Given the description of an element on the screen output the (x, y) to click on. 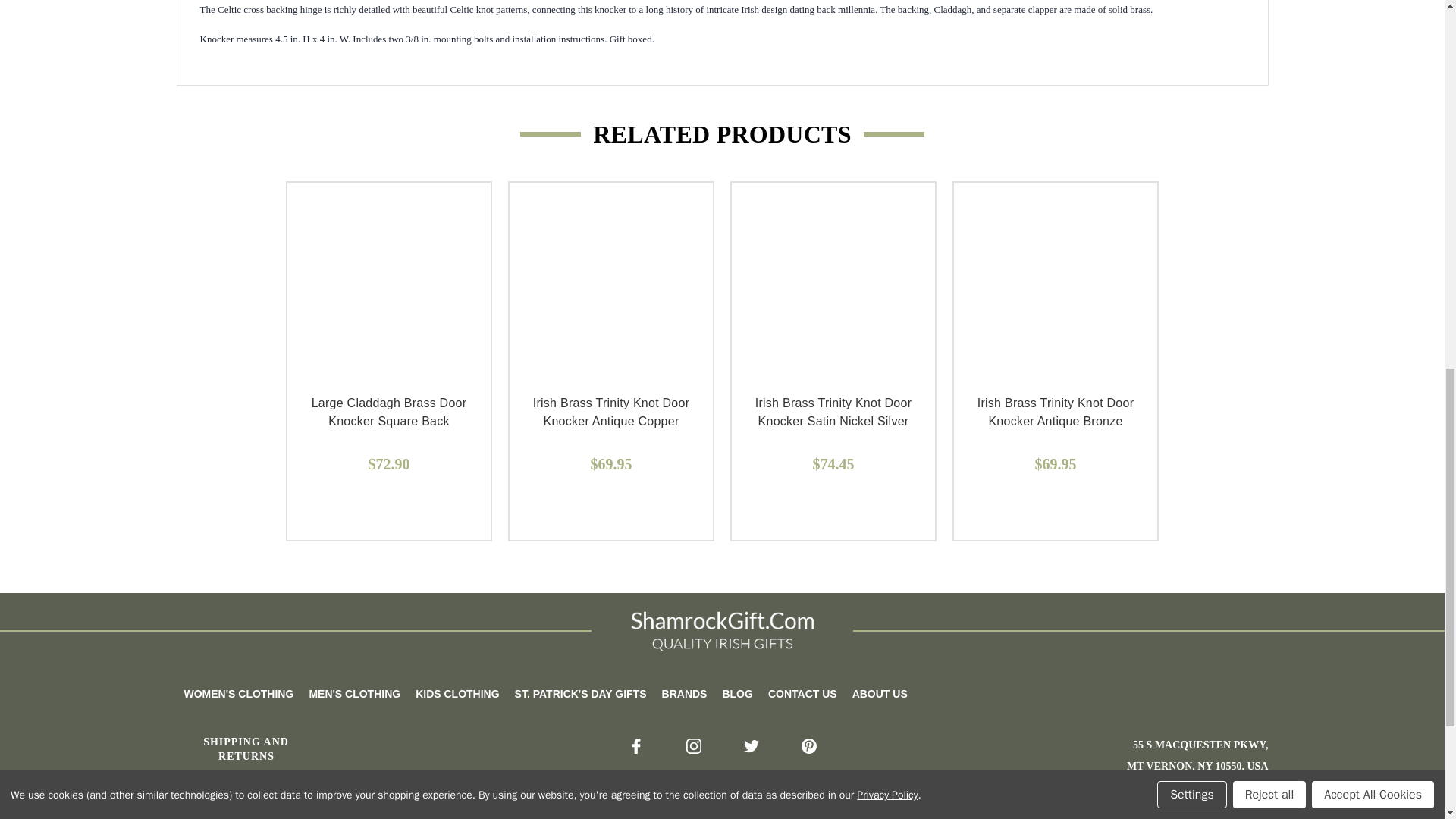
Shamrock Gift (722, 630)
